Given the description of an element on the screen output the (x, y) to click on. 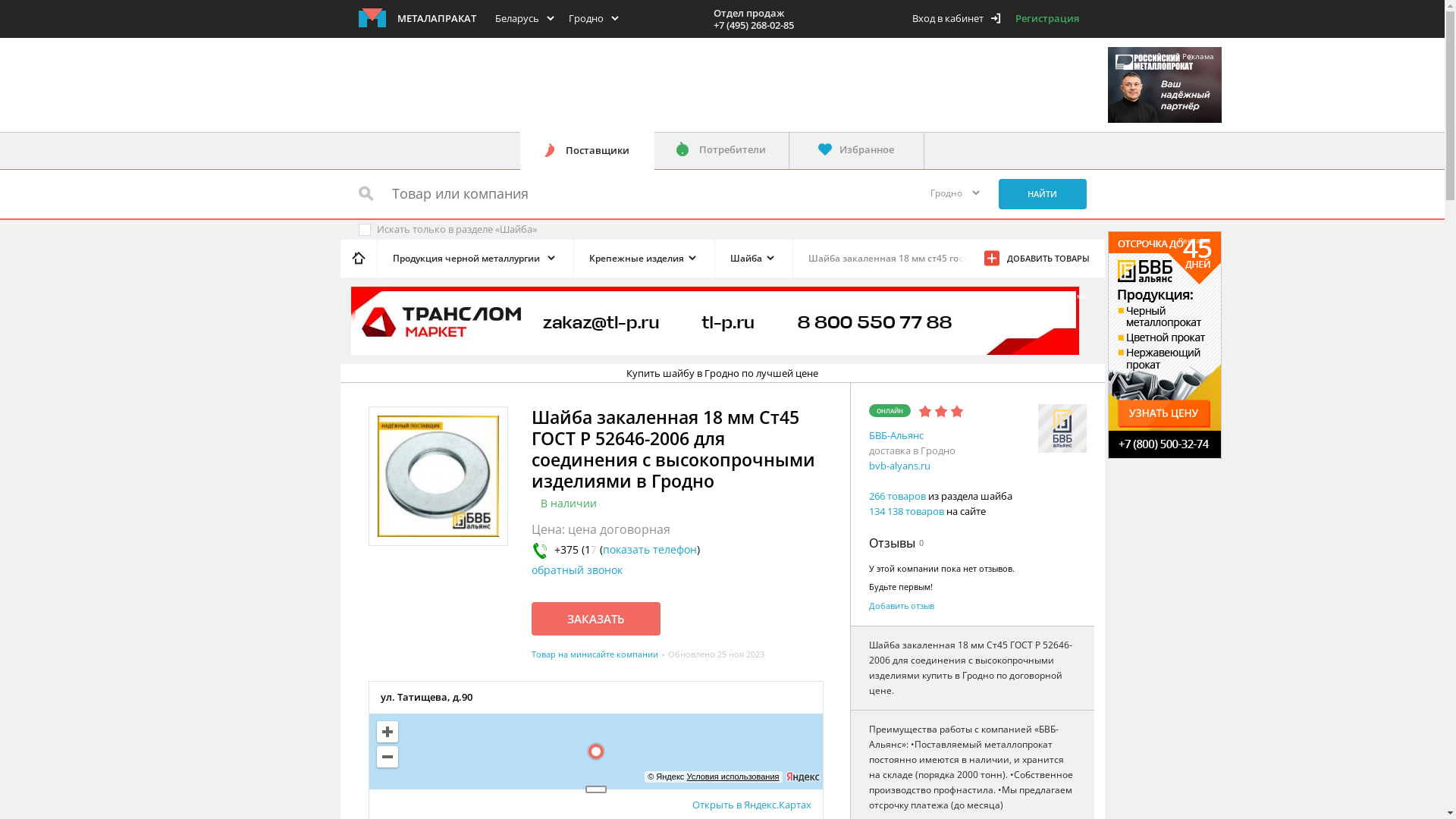
bvb-alyans.ru Element type: text (899, 465)
